Given the description of an element on the screen output the (x, y) to click on. 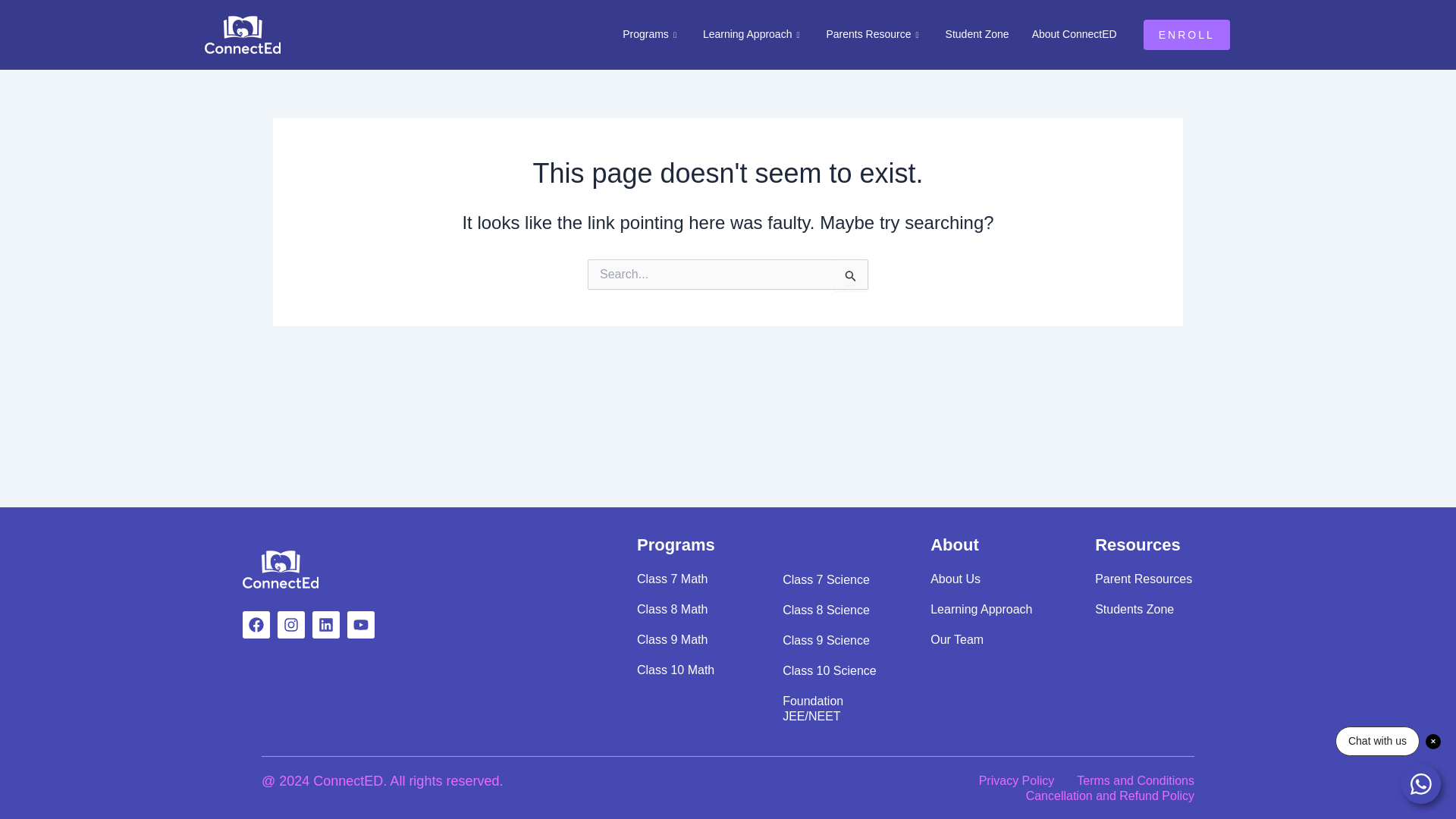
Search (850, 275)
Programs (651, 34)
Parents Resource (873, 34)
Student Zone (977, 34)
Search (850, 275)
ENROLL (1186, 34)
Learning Approach (753, 34)
About ConnectED (1074, 34)
